Given the description of an element on the screen output the (x, y) to click on. 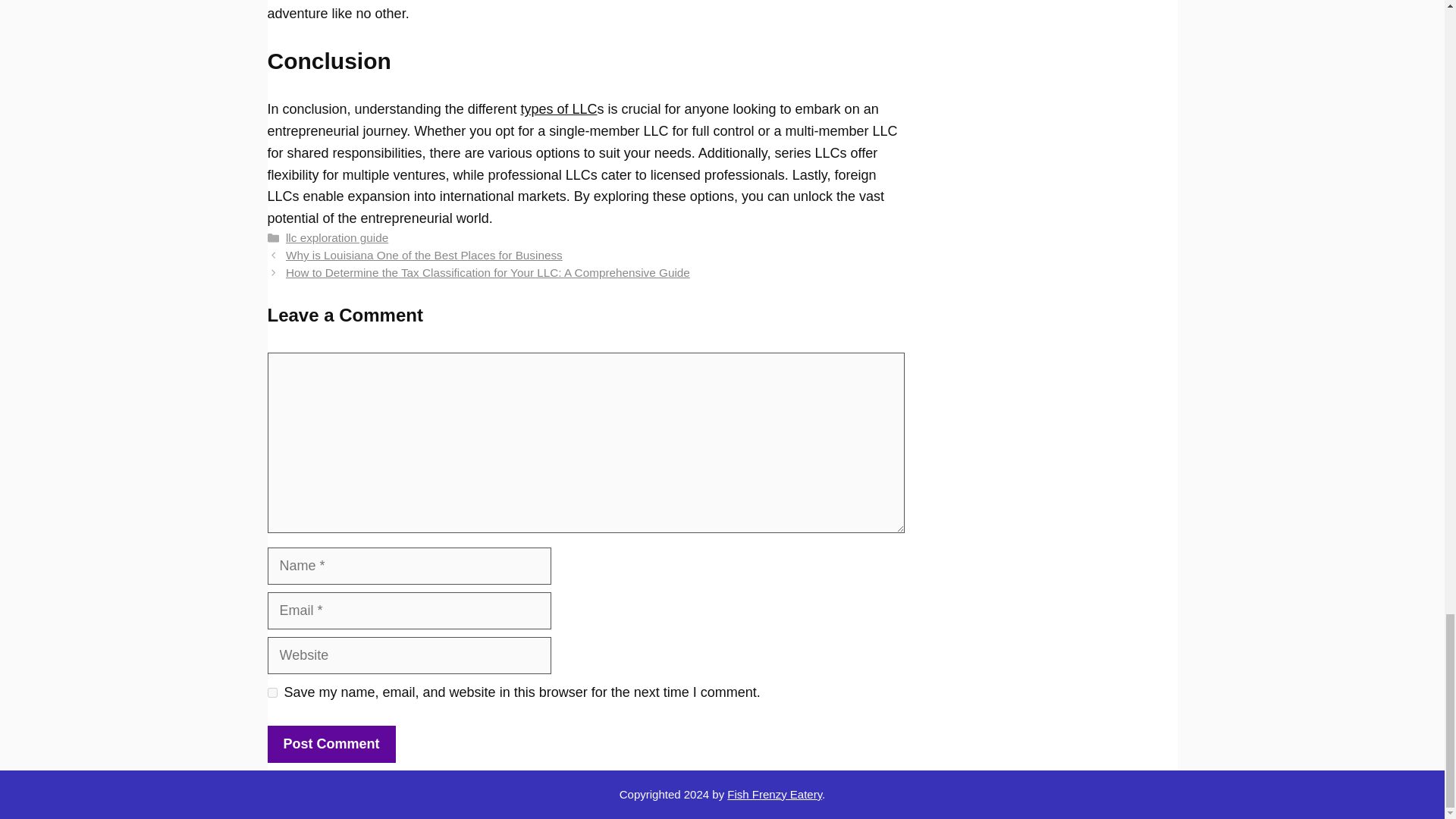
Why is Louisiana One of the Best Places for Business (423, 254)
llc exploration guide (336, 237)
Post Comment (330, 743)
Fish Frenzy Eatery (774, 793)
types of LLC (557, 109)
yes (271, 692)
Post Comment (330, 743)
